Given the description of an element on the screen output the (x, y) to click on. 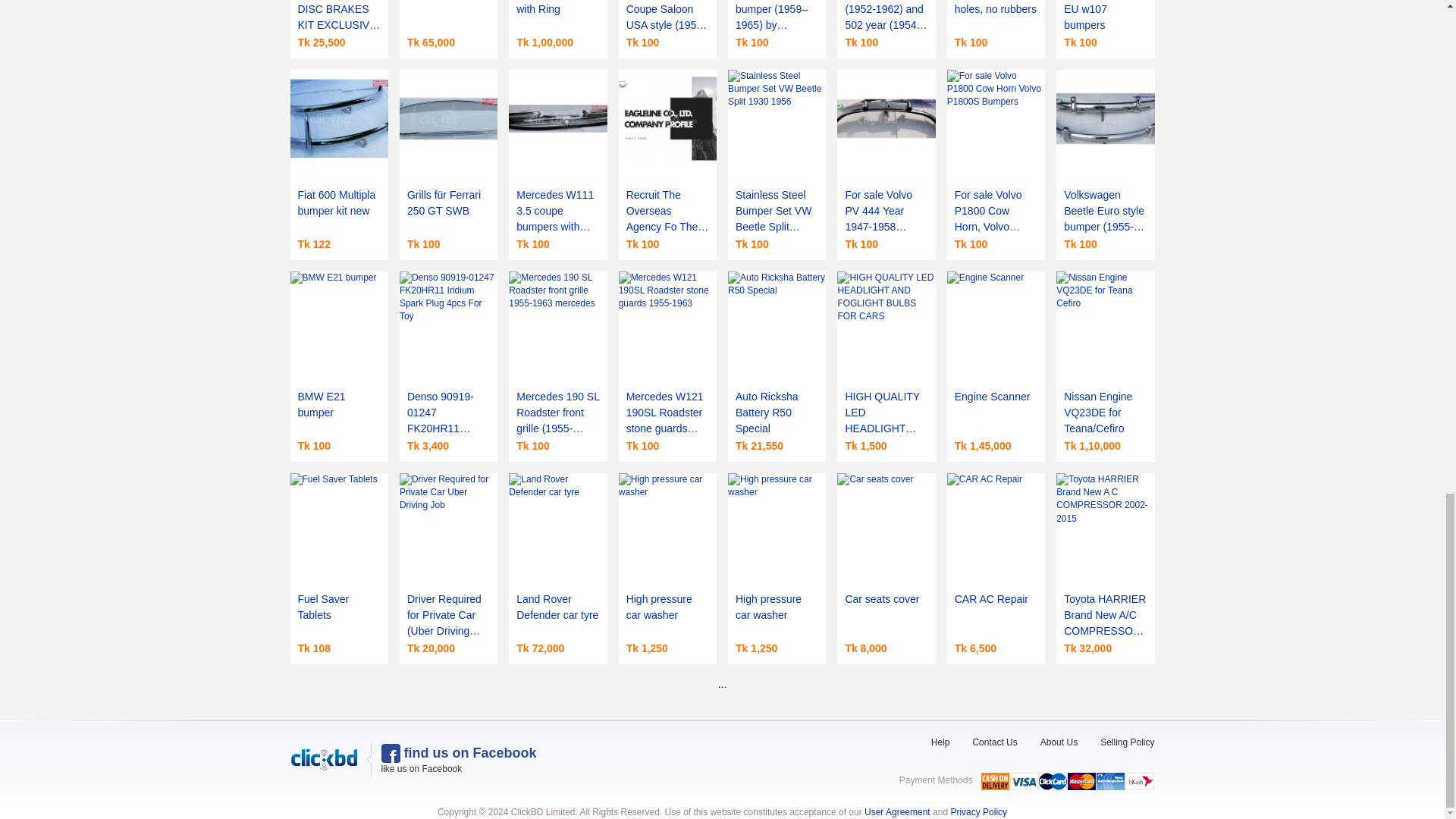
ClickBD (323, 759)
